Given the description of an element on the screen output the (x, y) to click on. 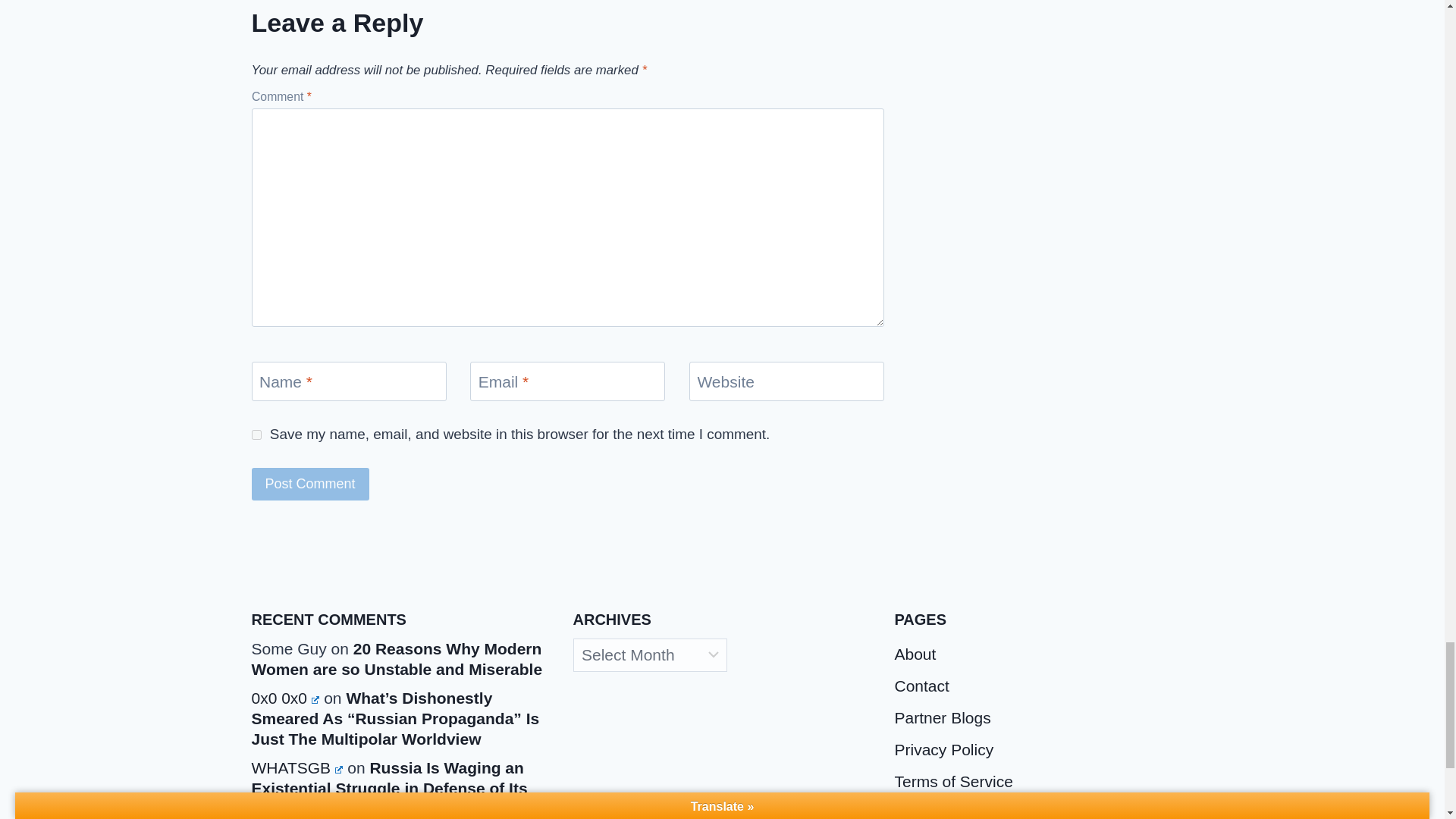
Post Comment (310, 483)
yes (256, 434)
